Given the description of an element on the screen output the (x, y) to click on. 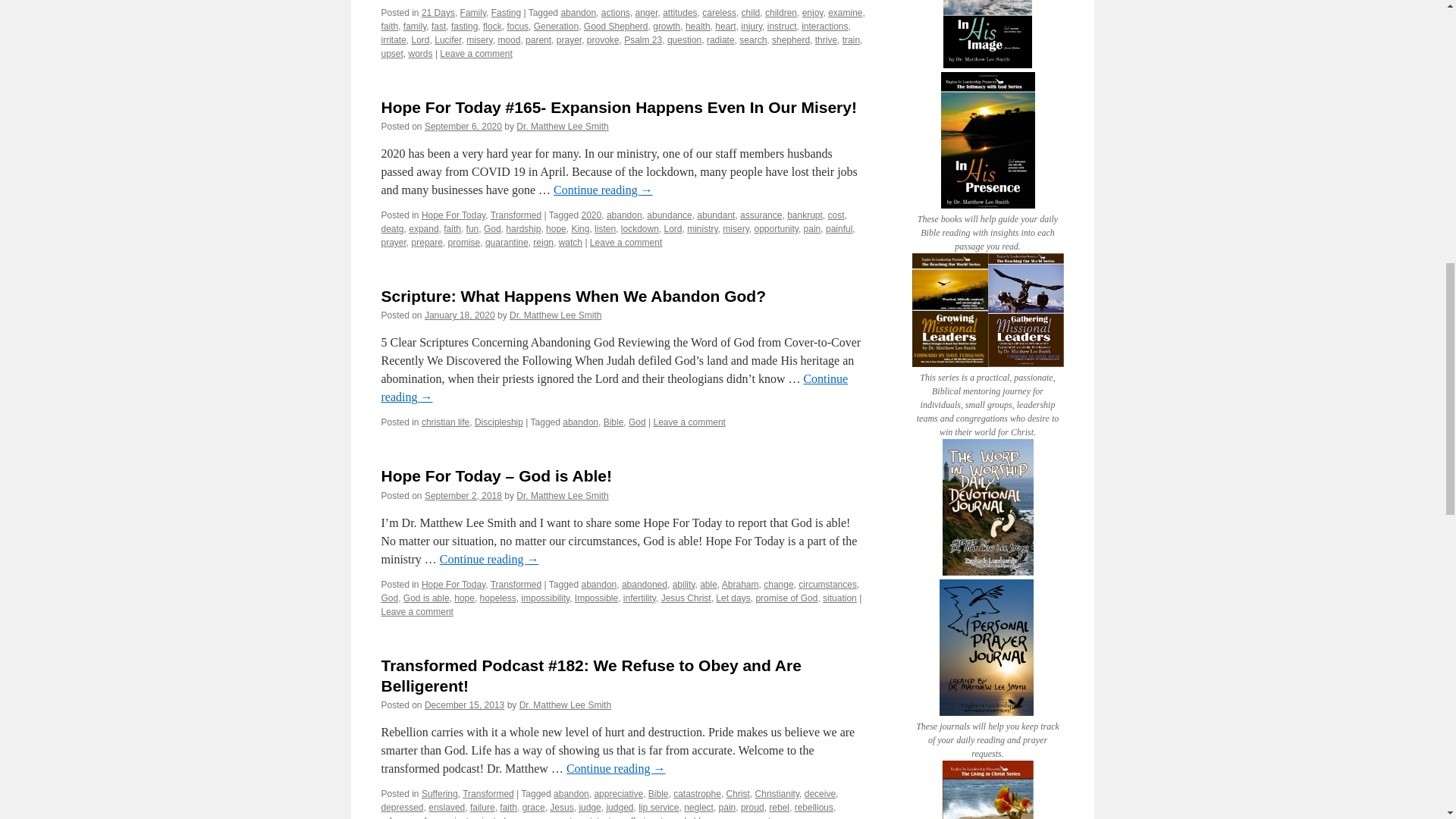
3:00 am (463, 495)
View all posts by Dr. Matthew Lee Smith (562, 126)
12:01 am (463, 126)
View all posts by Dr. Matthew Lee Smith (562, 495)
6:00 am (464, 705)
3:37 pm (460, 315)
View all posts by Dr. Matthew Lee Smith (555, 315)
View all posts by Dr. Matthew Lee Smith (565, 705)
